Given the description of an element on the screen output the (x, y) to click on. 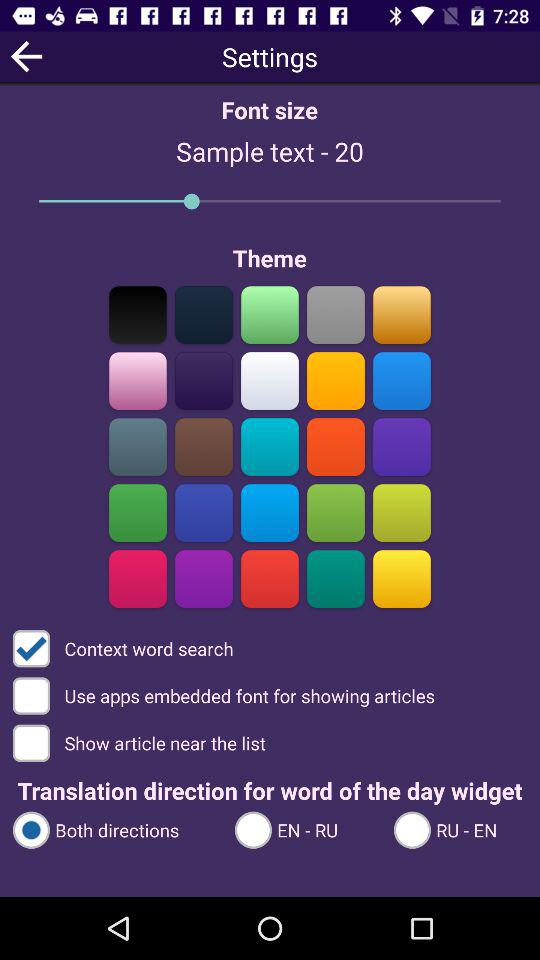
select the color bar (203, 314)
